Given the description of an element on the screen output the (x, y) to click on. 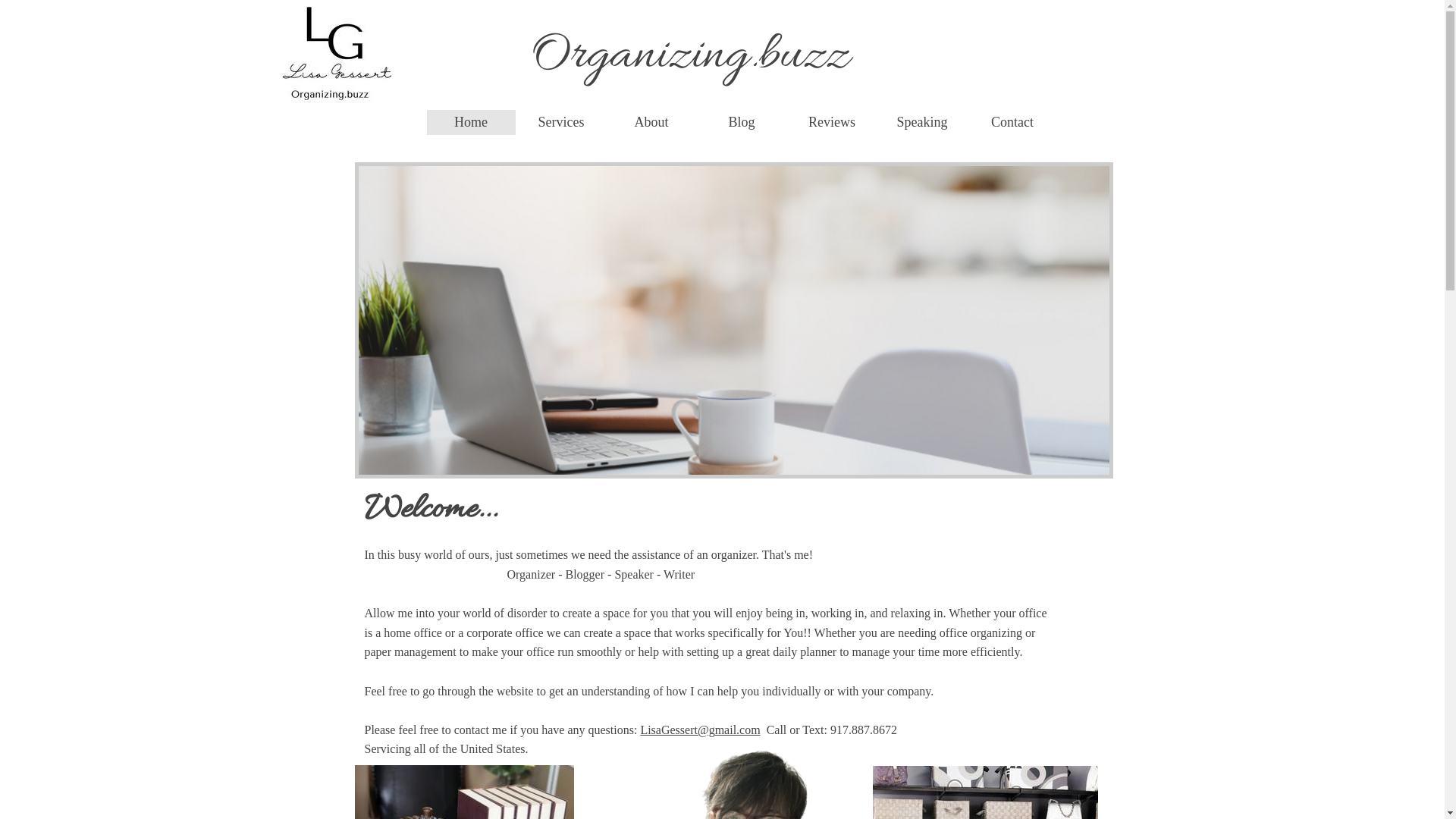
Contact Element type: text (1011, 121)
About Element type: text (650, 121)
Blog Element type: text (741, 121)
Speaking Element type: text (922, 121)
Home Element type: text (470, 121)
Services Element type: text (561, 121)
Reviews Element type: text (831, 121)
LisaGessert@g Element type: text (677, 729)
mail.com Element type: text (737, 729)
